Given the description of an element on the screen output the (x, y) to click on. 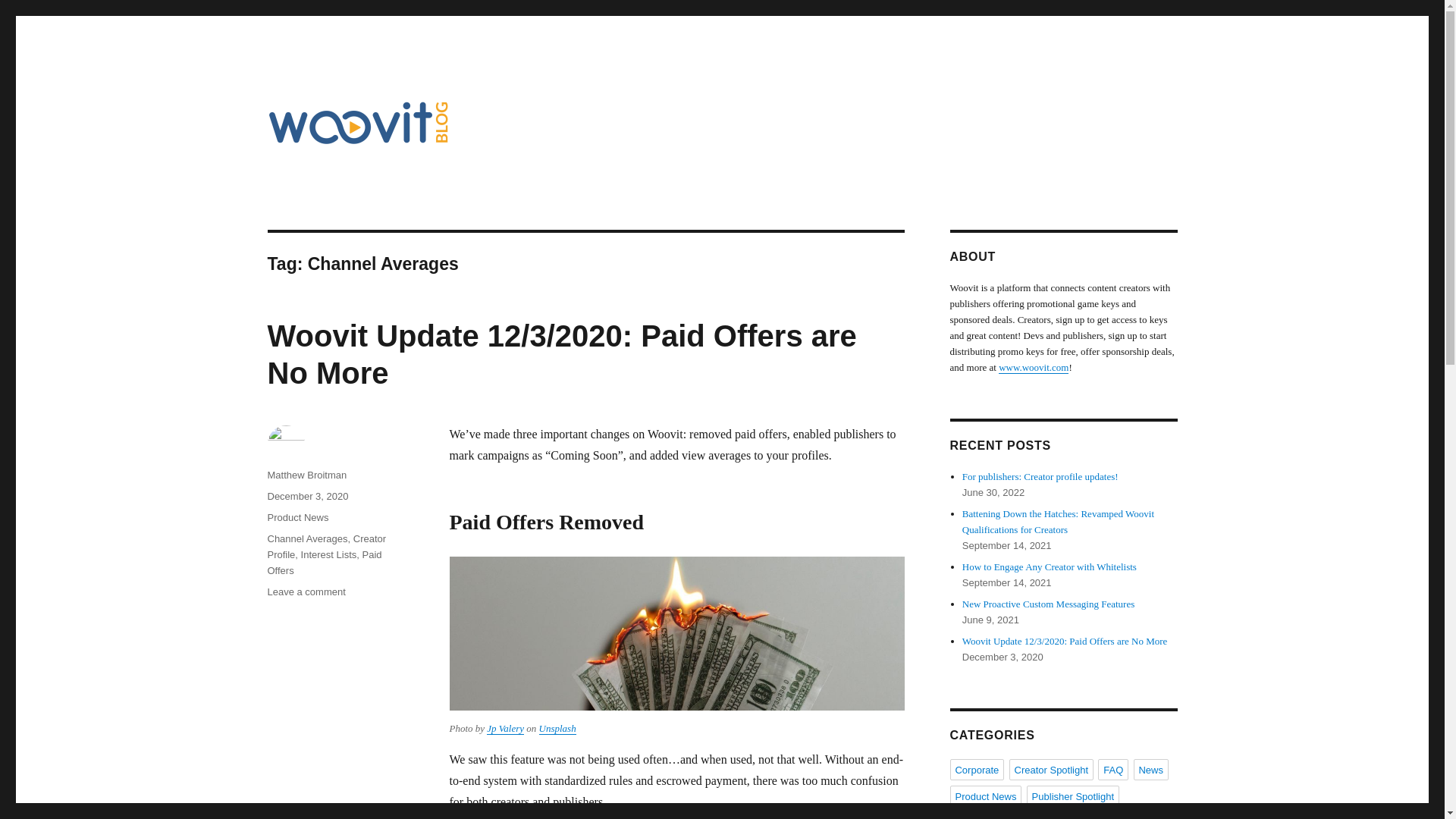
FAQ (1112, 769)
Creator Spotlight (1051, 769)
Product News (297, 517)
For publishers: Creator profile updates! (1040, 476)
Interest Lists (328, 554)
Product News (985, 795)
December 3, 2020 (306, 496)
Trade Show (1077, 815)
Corporate (976, 769)
The Woovit Blog (349, 168)
Publisher Spotlight (1072, 795)
Matthew Broitman (306, 474)
Jp Valery (505, 727)
New Proactive Custom Messaging Features (1048, 603)
www.woovit.com (1033, 367)
